Given the description of an element on the screen output the (x, y) to click on. 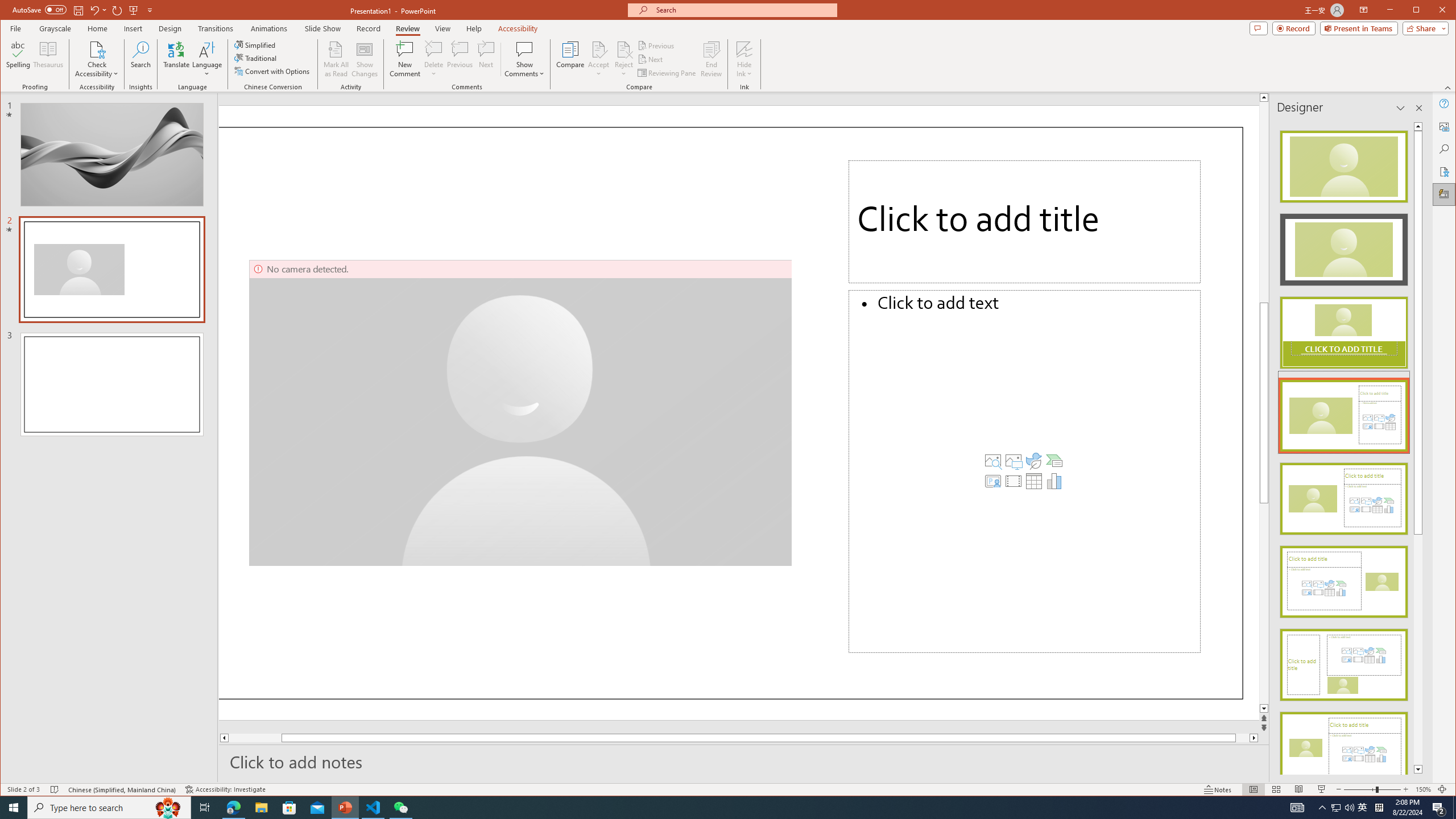
Previous (657, 45)
Mark All as Read (335, 59)
Class: NetUIScrollBar (1417, 447)
Accept Change (598, 48)
Content Placeholder (1024, 470)
